Given the description of an element on the screen output the (x, y) to click on. 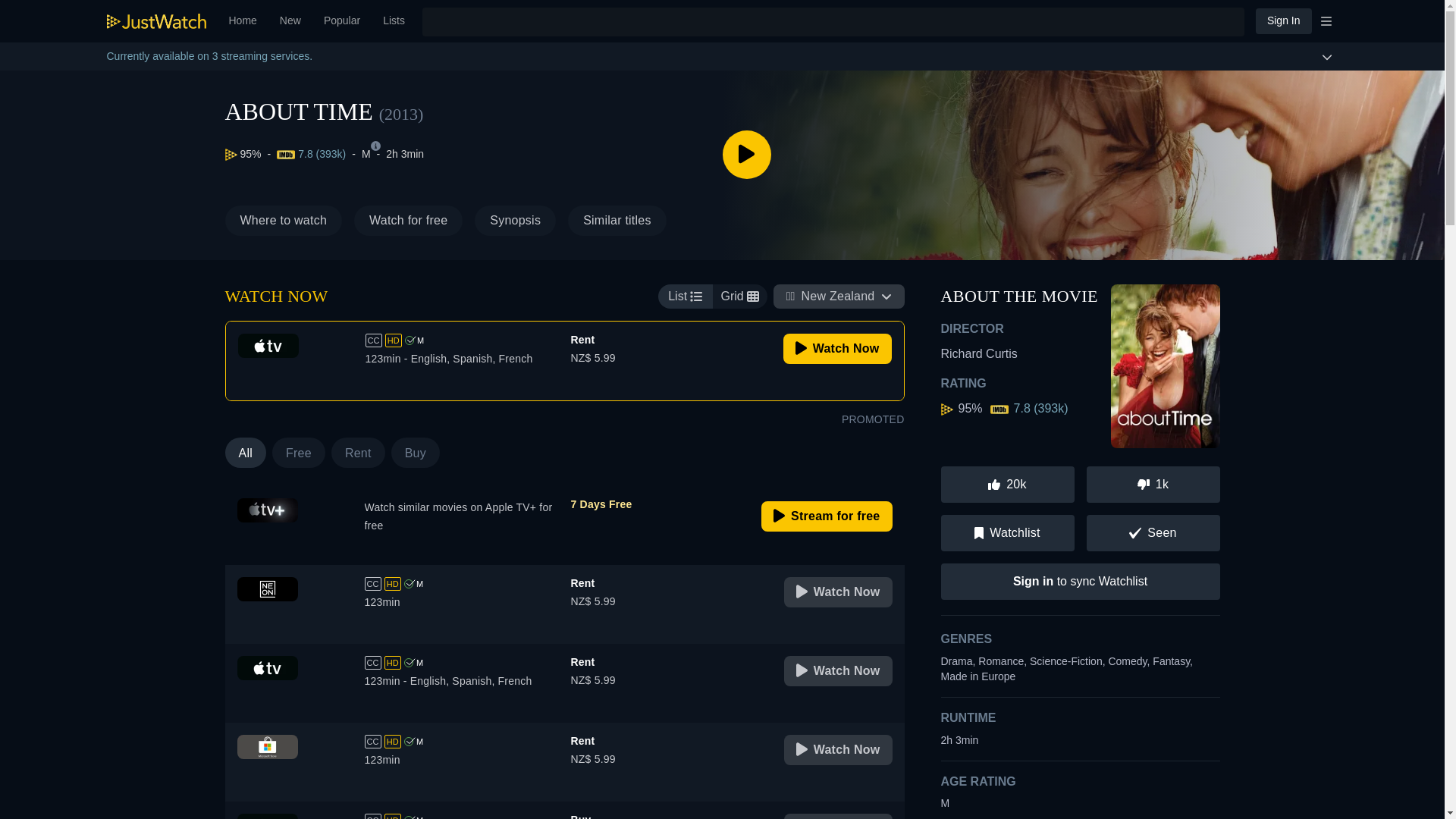
Free (746, 220)
Similar titles (298, 452)
Stream for free (616, 220)
New (826, 516)
Sign In (290, 21)
Watch Now (1283, 20)
All (451, 220)
Lists (838, 592)
